Given the description of an element on the screen output the (x, y) to click on. 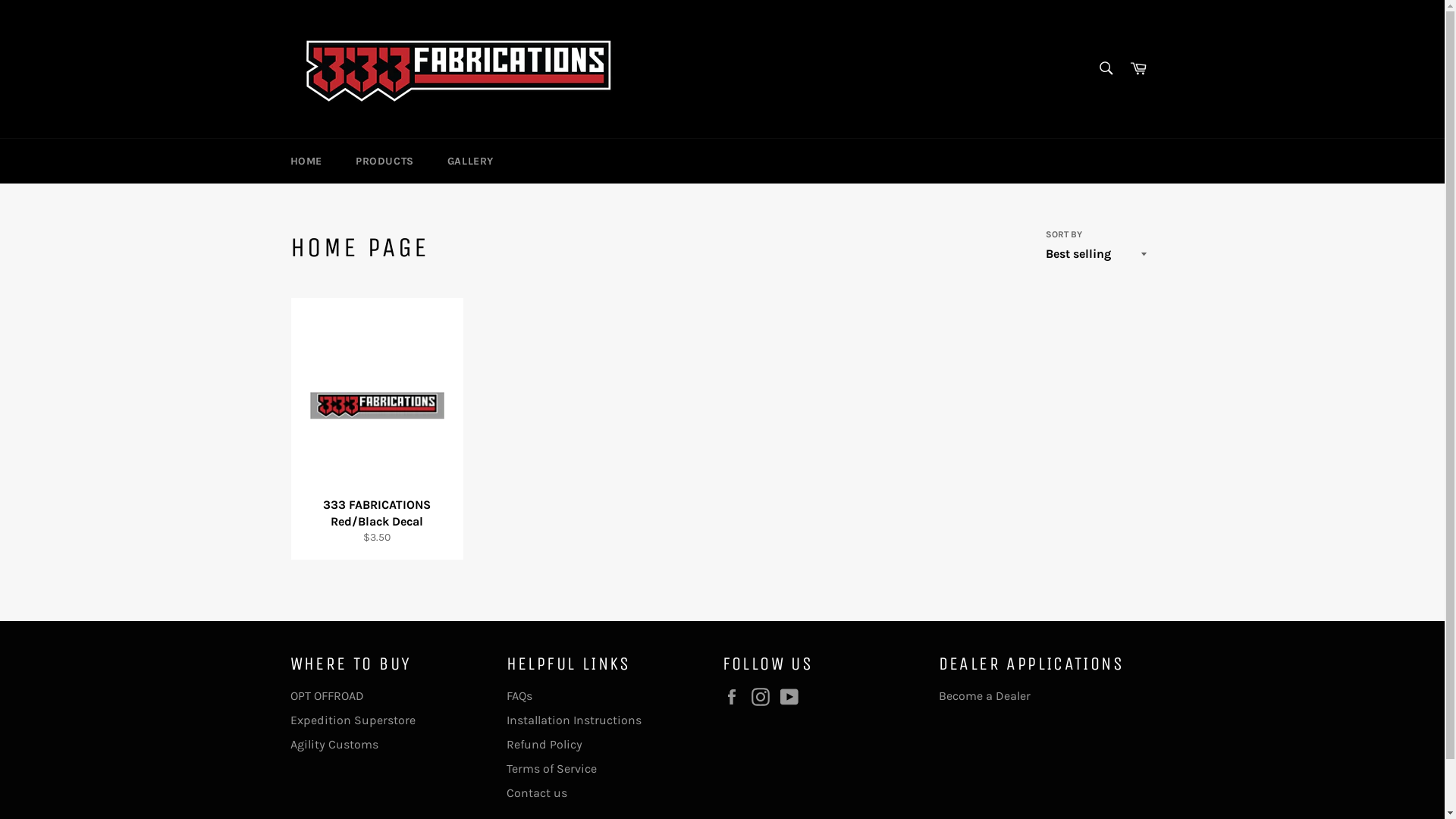
Facebook Element type: text (734, 696)
Instagram Element type: text (763, 696)
Contact us Element type: text (536, 792)
Terms of Service Element type: text (551, 768)
PRODUCTS Element type: text (384, 160)
Installation Instructions Element type: text (573, 719)
Expedition Superstore Element type: text (351, 719)
OPT OFFROAD Element type: text (326, 695)
GALLERY Element type: text (470, 160)
FAQs Element type: text (519, 695)
Become a Dealer Element type: text (984, 695)
HOME Element type: text (305, 160)
YouTube Element type: text (792, 696)
Refund Policy Element type: text (544, 744)
Agility Customs Element type: text (333, 744)
Cart Element type: text (1138, 68)
333 FABRICATIONS Red/Black Decal
Regular price
$3.50 Element type: text (375, 429)
Search Element type: text (1105, 67)
